Given the description of an element on the screen output the (x, y) to click on. 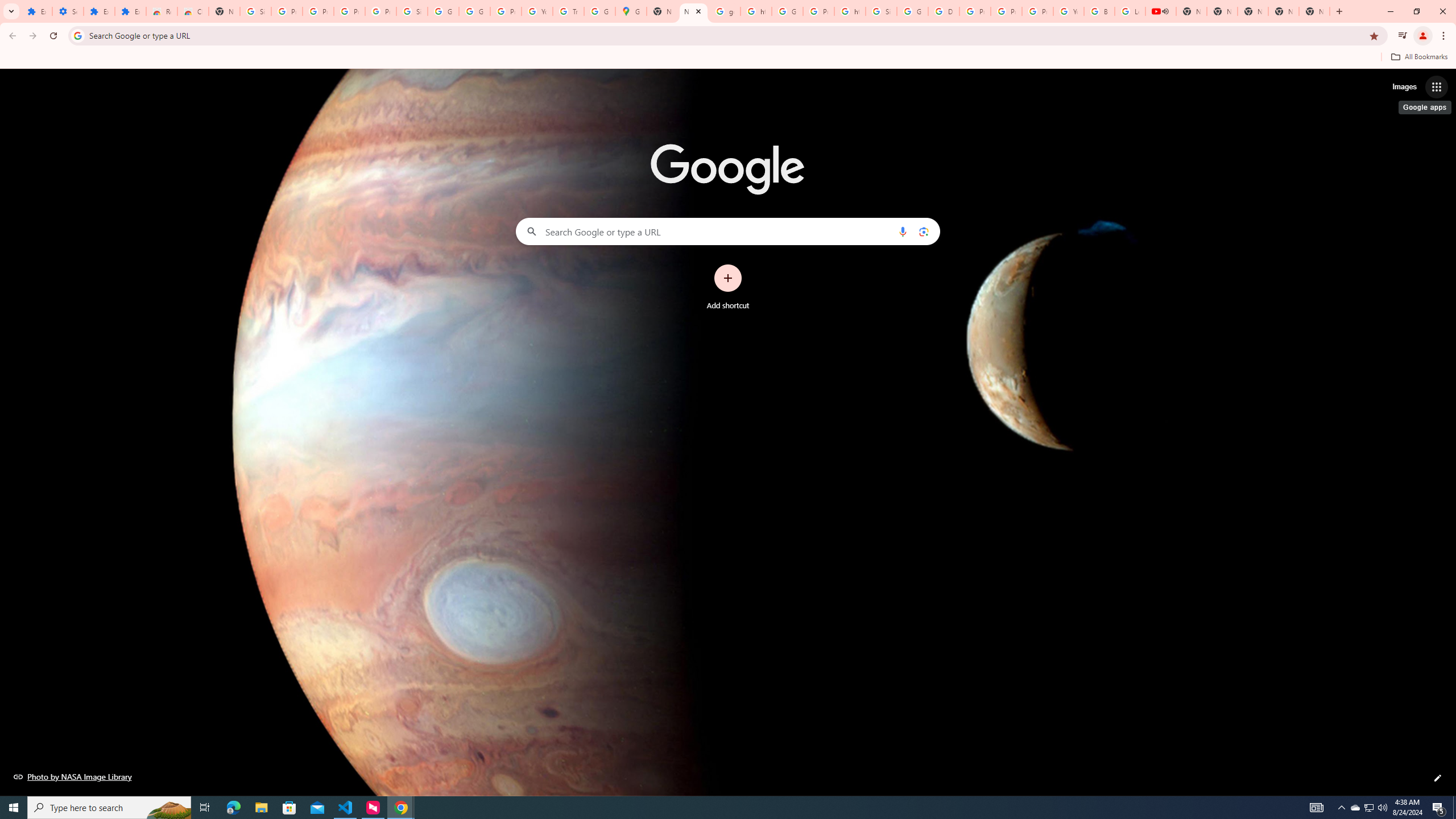
You (1422, 35)
Privacy Help Center - Policies Help (1005, 11)
New Tab (1338, 11)
Add shortcut (727, 287)
New Tab (1314, 11)
Mute tab (1165, 10)
Reviews: Helix Fruit Jump Arcade Game (161, 11)
Control your music, videos, and more (1402, 35)
System (6, 6)
